Given the description of an element on the screen output the (x, y) to click on. 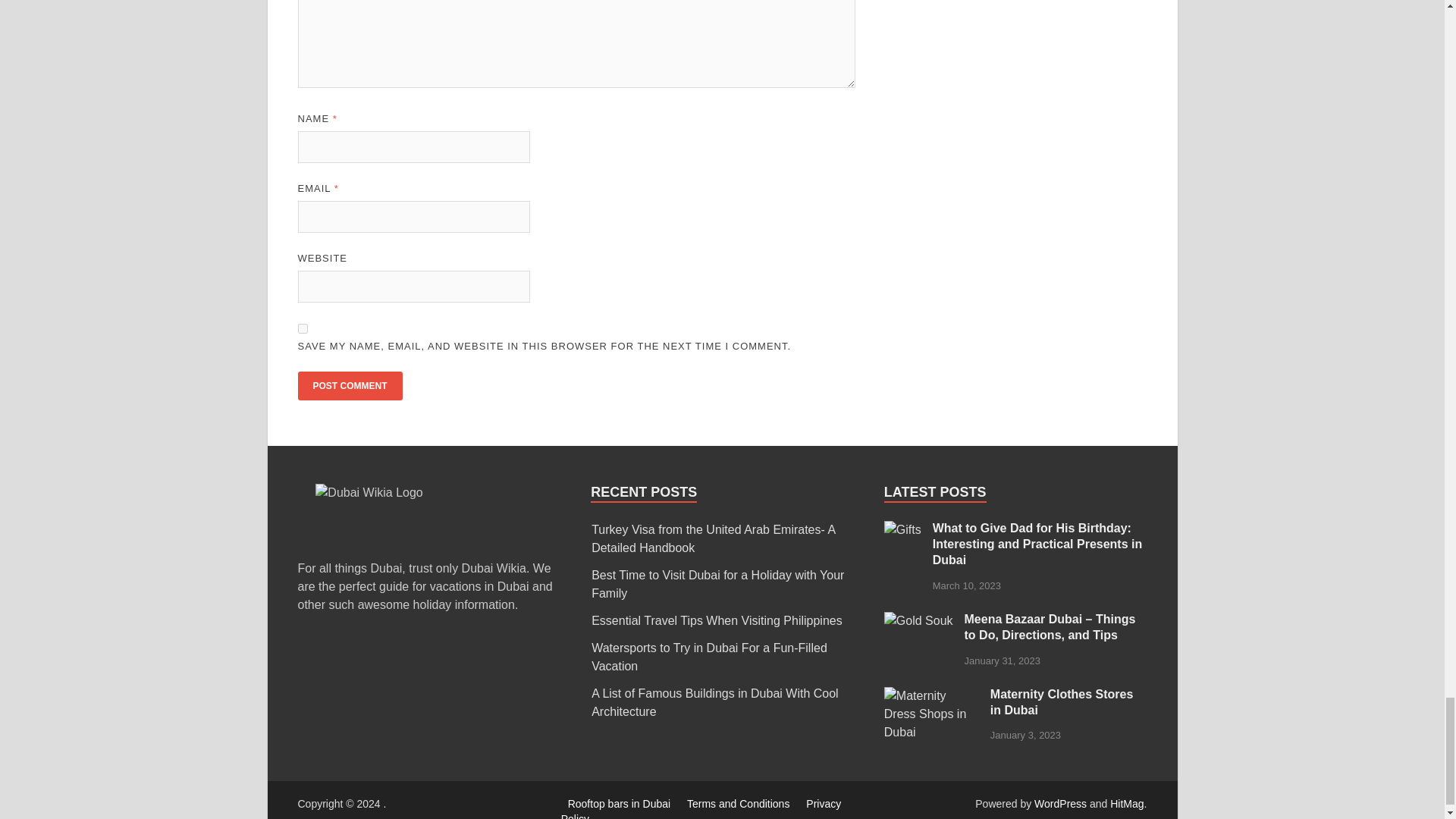
Post Comment (349, 385)
Post Comment (349, 385)
yes (302, 328)
